Given the description of an element on the screen output the (x, y) to click on. 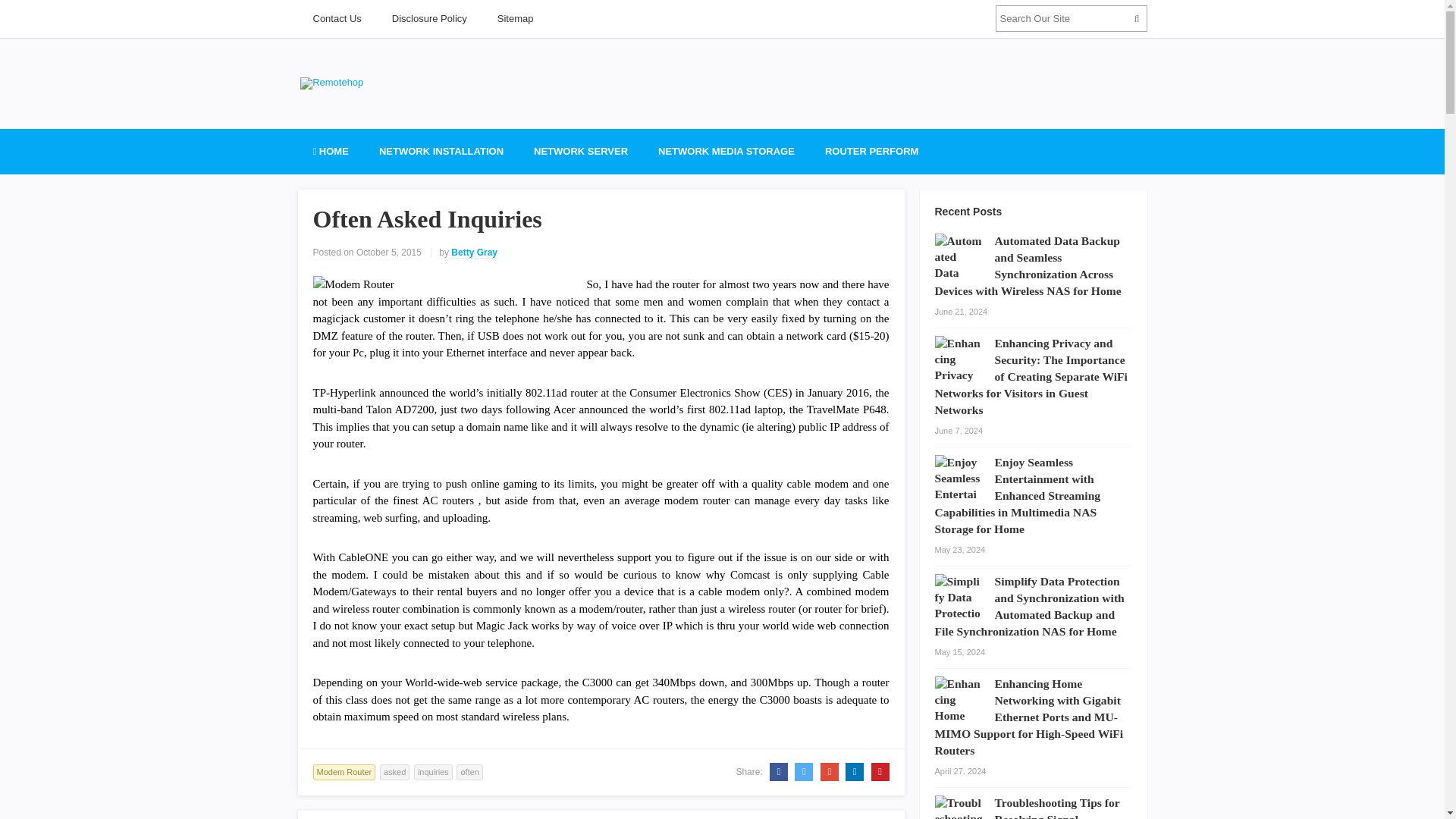
NETWORK SERVER (580, 151)
asked (394, 772)
Sitemap (514, 18)
HOME (329, 151)
NETWORK MEDIA STORAGE (726, 151)
Betty Gray (474, 252)
inquiries (432, 772)
NETWORK INSTALLATION (441, 151)
often (469, 772)
ROUTER PERFORM (871, 151)
Contact Us (336, 18)
Modem Router (344, 772)
Disclosure Policy (429, 18)
